Given the description of an element on the screen output the (x, y) to click on. 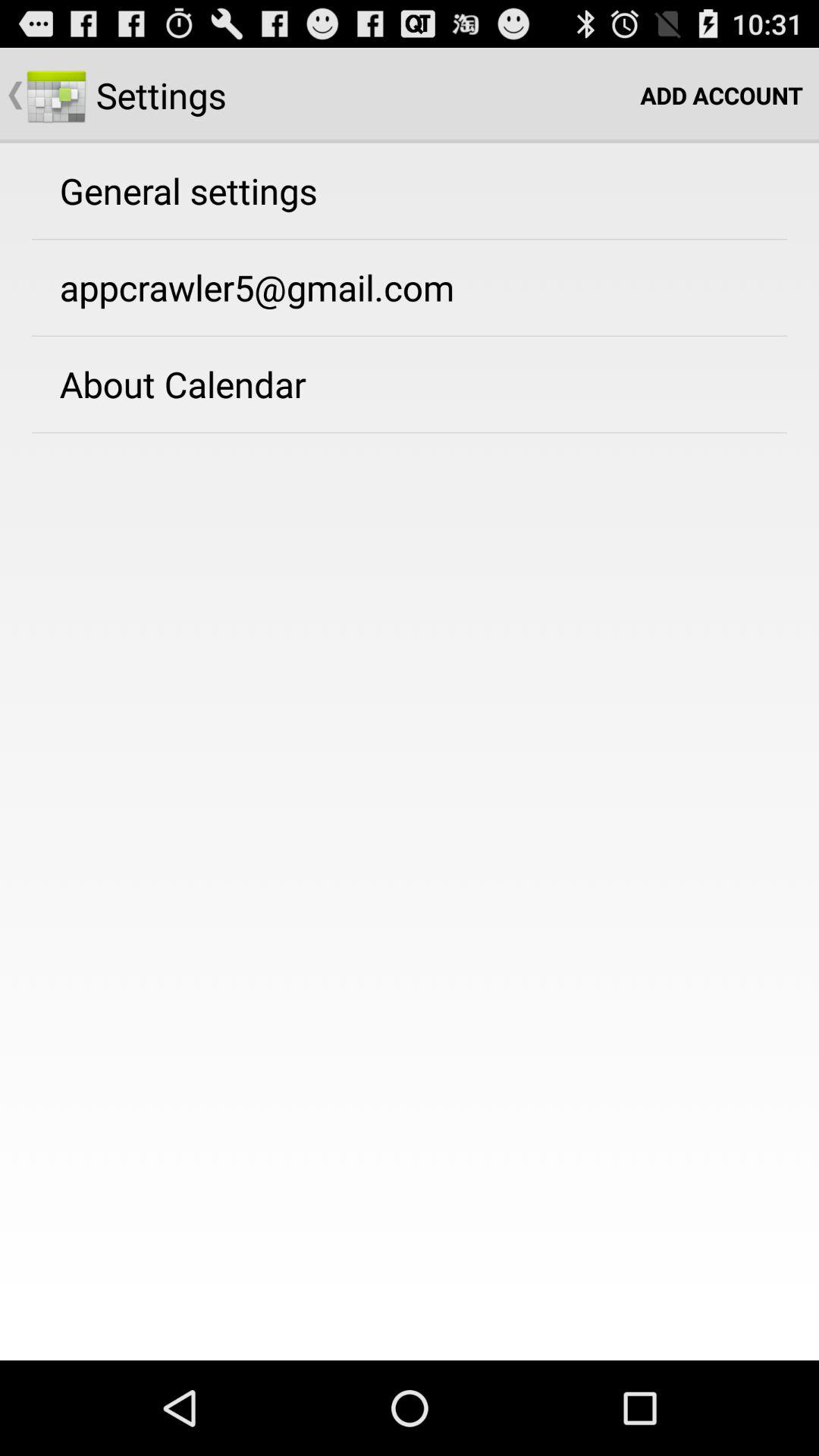
click the icon above about calendar app (256, 287)
